Given the description of an element on the screen output the (x, y) to click on. 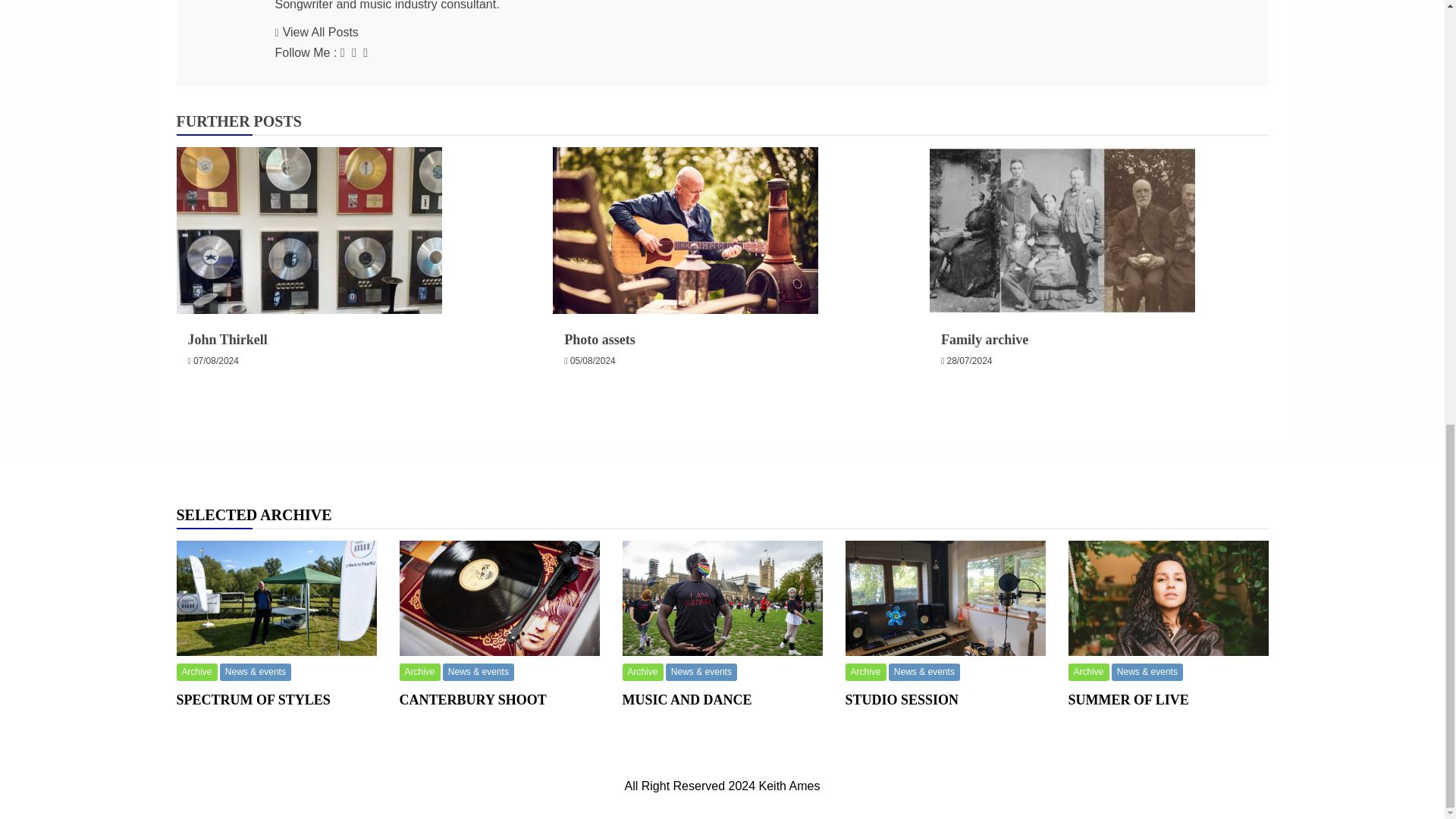
Photo assets (599, 339)
Family archive (983, 339)
View All Posts (316, 31)
John Thirkell (227, 339)
